Given the description of an element on the screen output the (x, y) to click on. 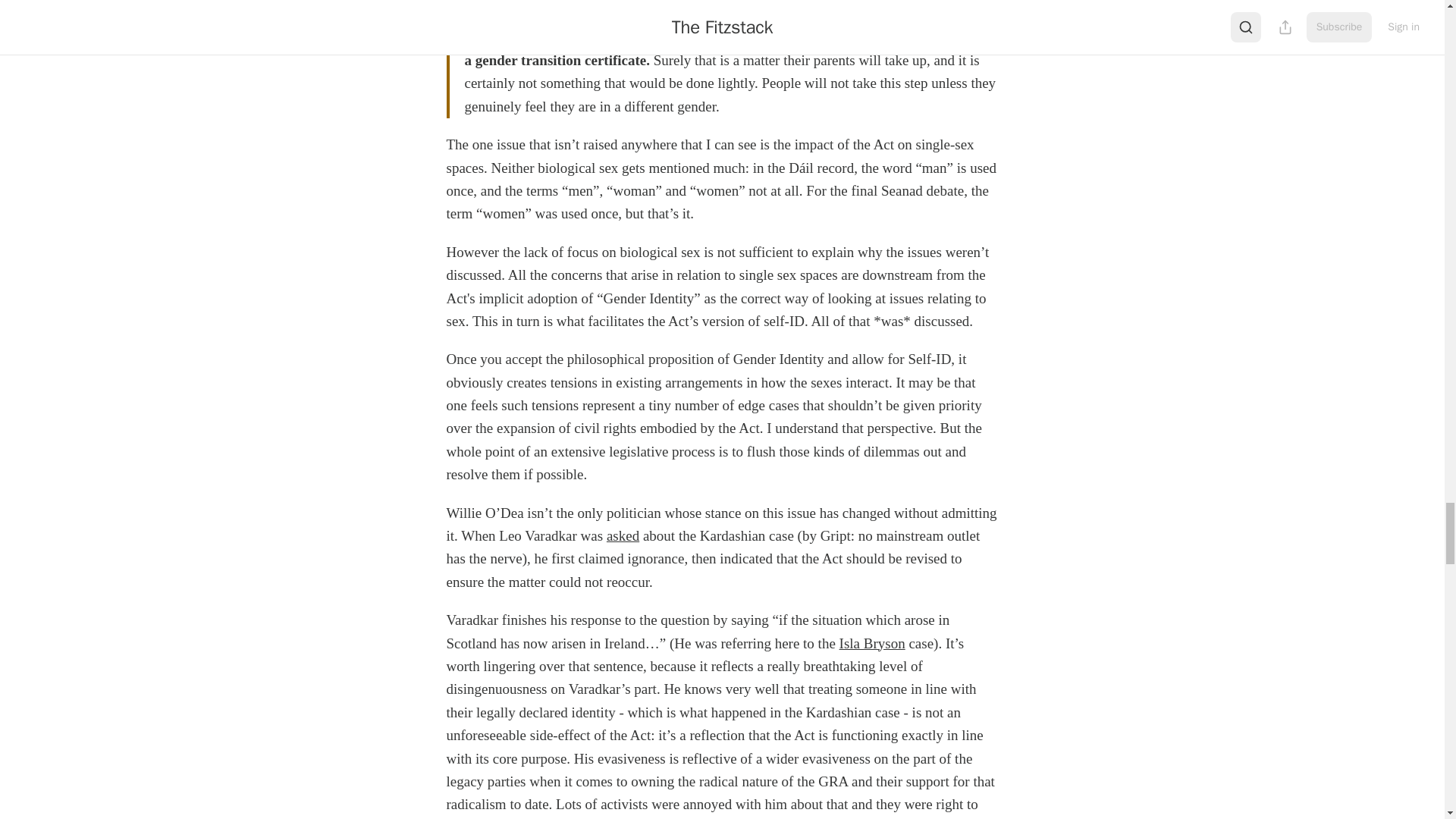
Isla Bryson (872, 643)
asked (623, 535)
